Given the description of an element on the screen output the (x, y) to click on. 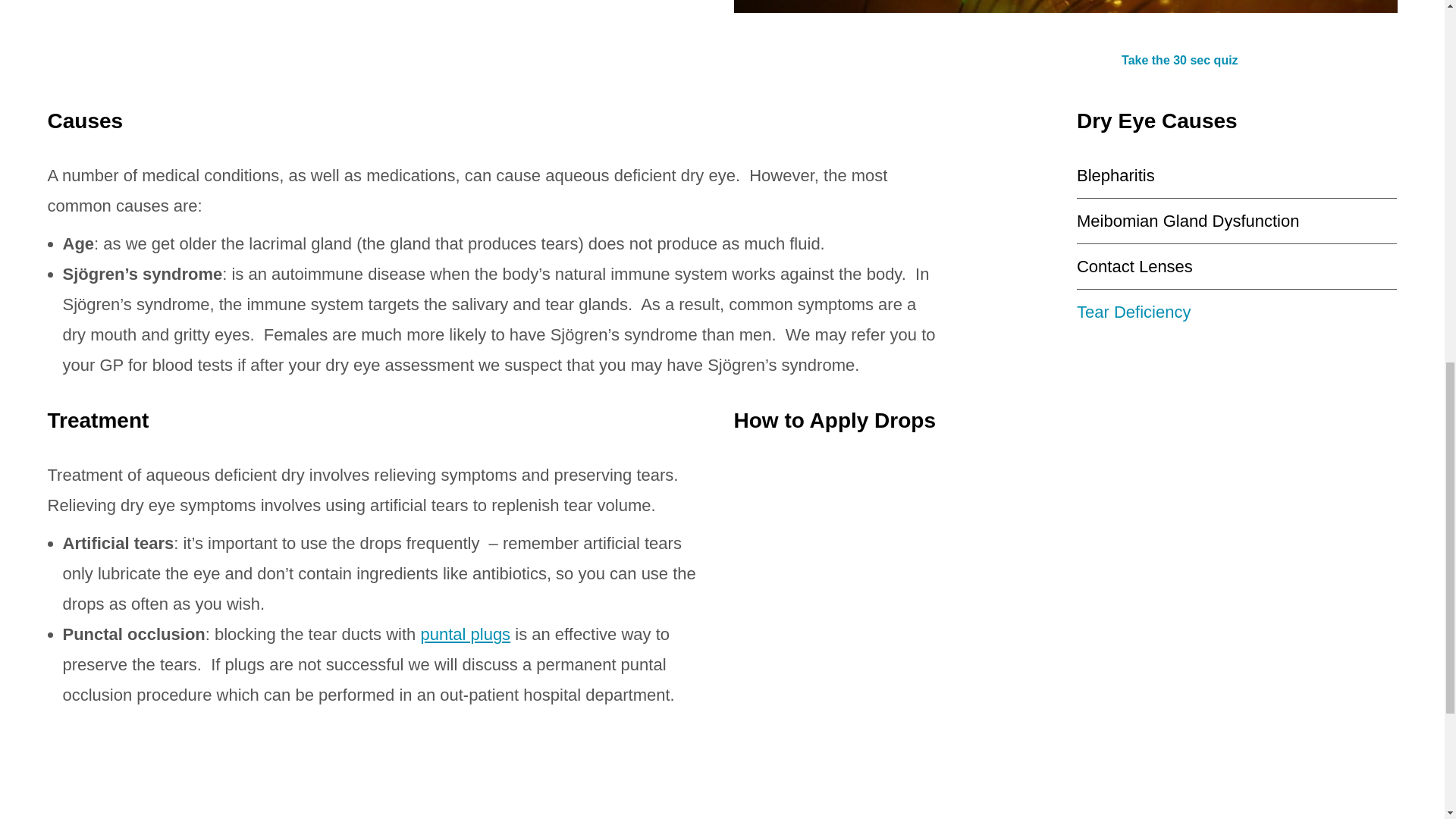
Tear menicus - Dry Eye Doctor (1065, 6)
Take the 30 sec quiz (1179, 60)
